Given the description of an element on the screen output the (x, y) to click on. 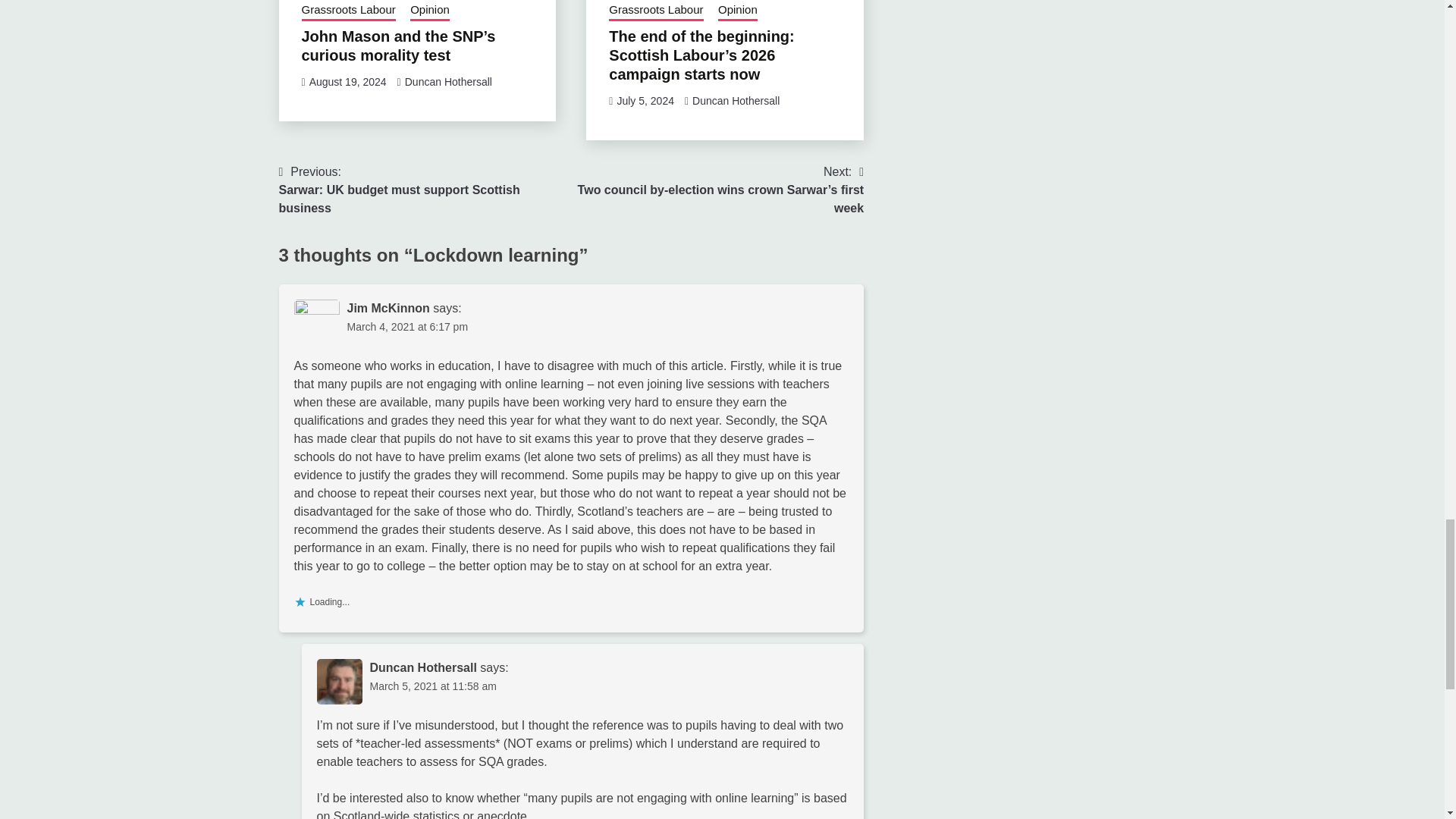
Grassroots Labour (655, 11)
Grassroots Labour (348, 11)
July 5, 2024 (644, 101)
Duncan Hothersall (448, 81)
August 19, 2024 (347, 81)
Opinion (429, 11)
Duncan Hothersall (425, 189)
March 4, 2021 at 6:17 pm (735, 101)
March 5, 2021 at 11:58 am (407, 326)
